Given the description of an element on the screen output the (x, y) to click on. 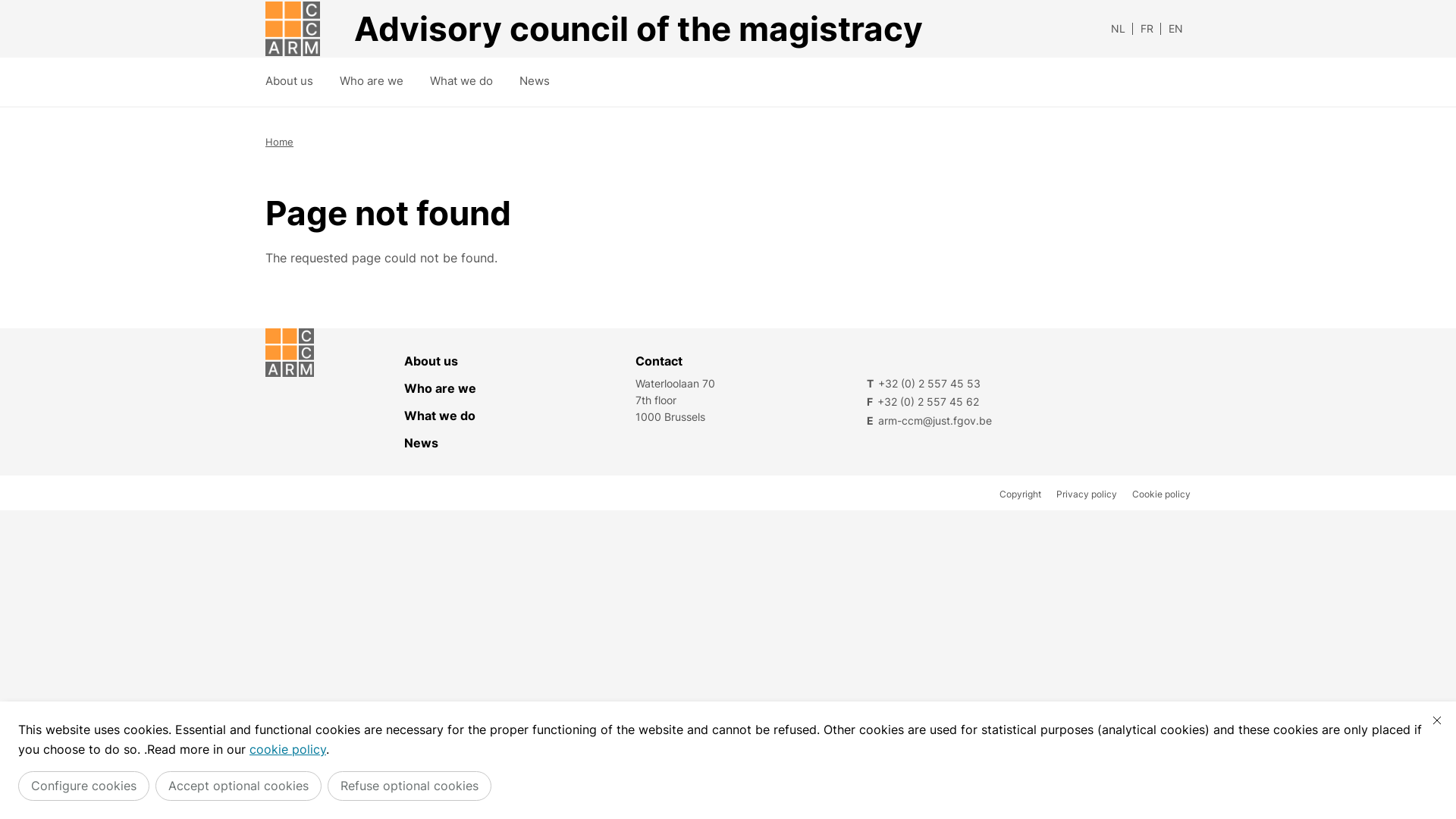
Home Element type: text (279, 141)
Privacy policy Element type: text (1086, 494)
News Element type: text (519, 442)
cookie policy Element type: text (287, 748)
Copyright Element type: text (1020, 494)
+32 (0) 2 557 45 62 Element type: text (1028, 401)
Refuse optional cookies Element type: text (409, 785)
+32 (0) 2 557 45 53 Element type: text (1028, 383)
Close Element type: hover (1436, 720)
About us Element type: text (519, 360)
NL Element type: text (1117, 28)
Cookie policy Element type: text (1161, 494)
About us Element type: text (289, 82)
Skip to main content Element type: text (7, 4)
FR Element type: text (1146, 28)
Who are we Element type: text (371, 82)
arm-ccm@just.fgov.be Element type: text (1028, 420)
News Element type: text (534, 82)
Who are we Element type: text (519, 388)
Configure cookies Element type: text (83, 785)
What we do Element type: text (519, 415)
EN Element type: text (1175, 28)
Back to Advisory council of the magistracy home page Element type: hover (292, 28)
What we do Element type: text (460, 82)
Back to  home page Element type: hover (334, 352)
Accept optional cookies Element type: text (238, 785)
